Given the description of an element on the screen output the (x, y) to click on. 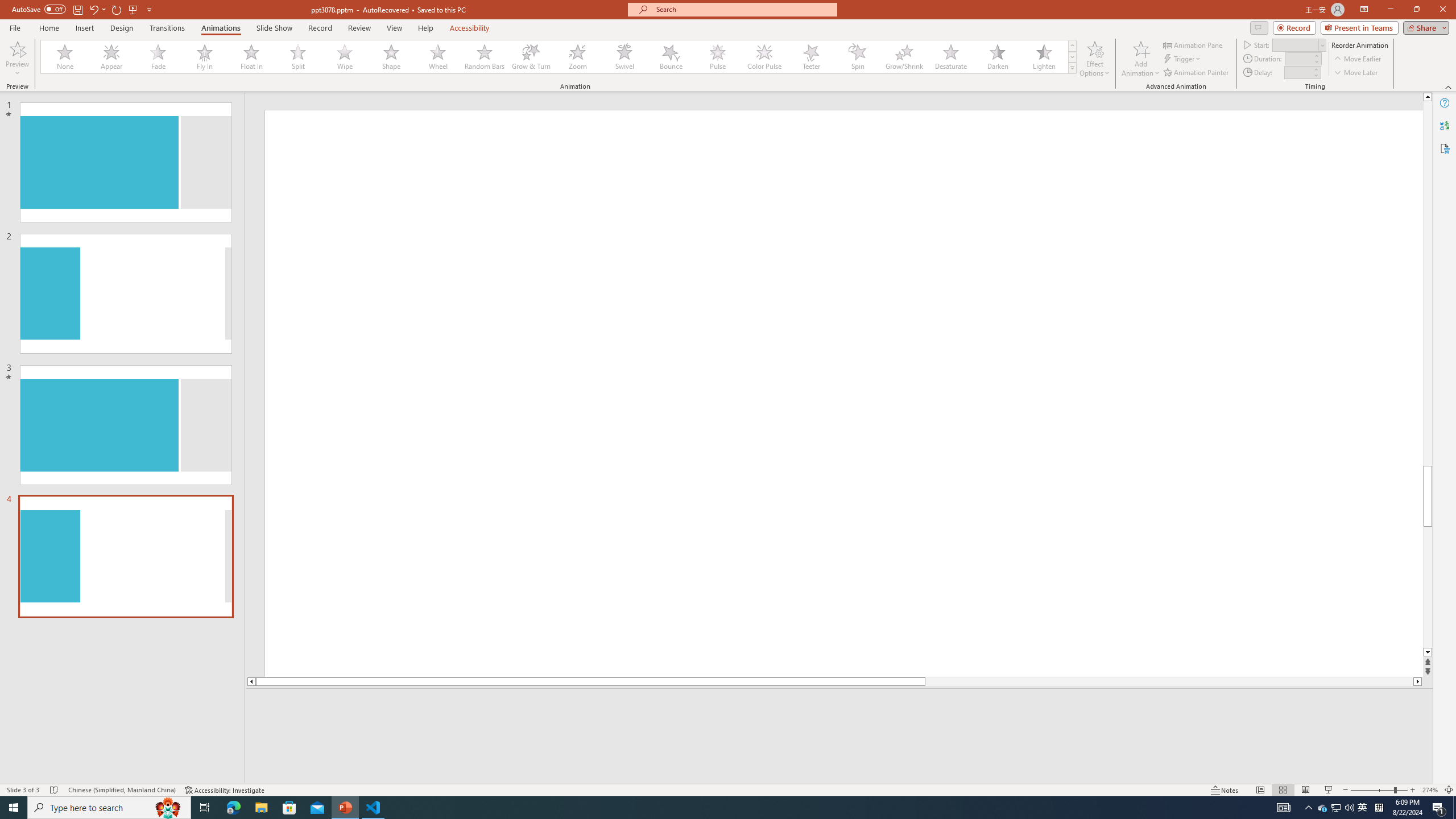
Animation Painter (1196, 72)
Add Animation (1141, 58)
Shape (391, 56)
More (1315, 69)
Swivel (624, 56)
Slide Notes (839, 705)
